Given the description of an element on the screen output the (x, y) to click on. 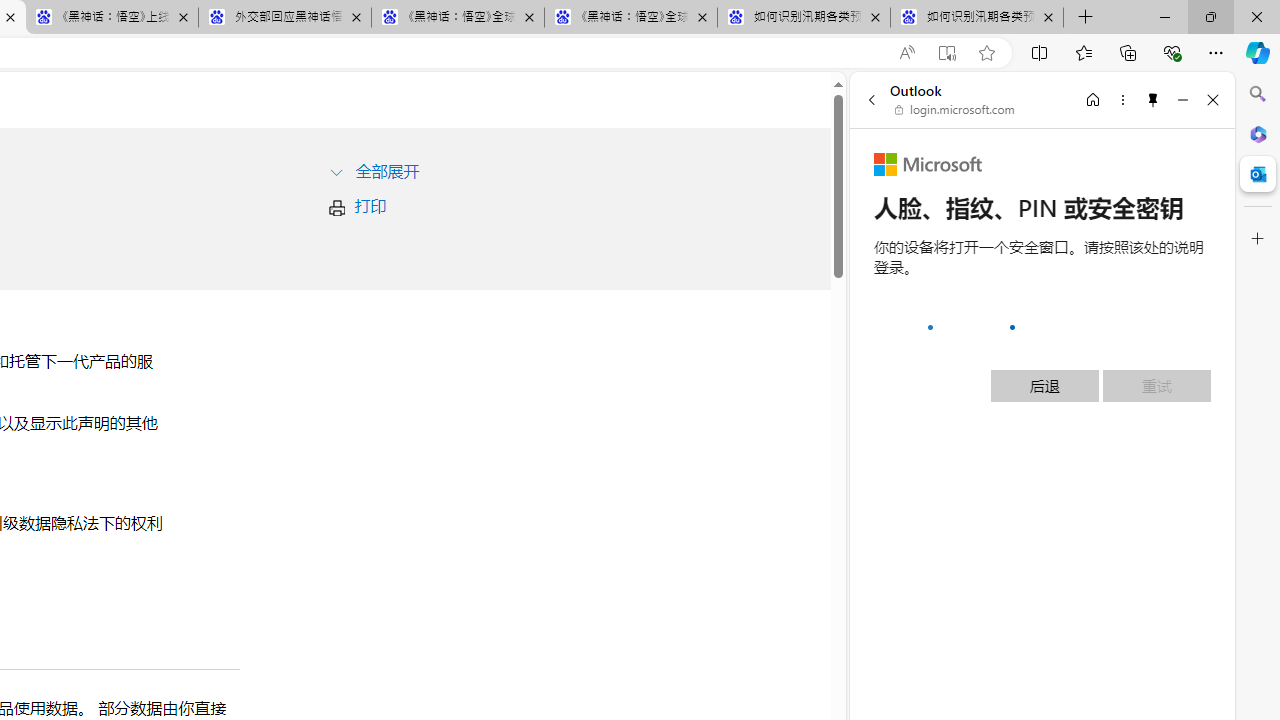
login.microsoft.com (955, 110)
Unpin side pane (1153, 99)
